Given the description of an element on the screen output the (x, y) to click on. 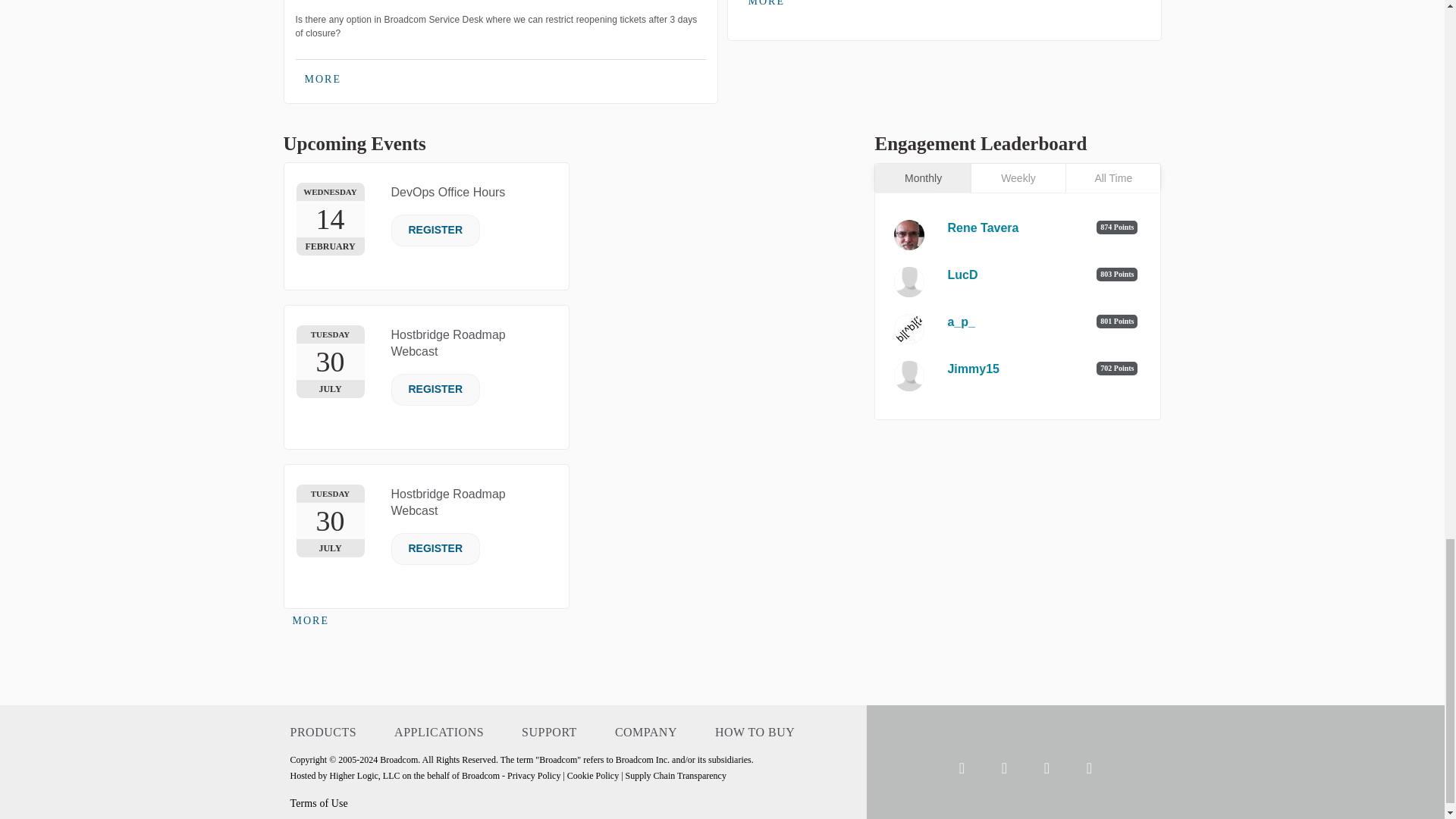
More (310, 621)
More (322, 79)
Hostbridge Roadmap Webcast (448, 342)
DevOps Office  Hours (448, 192)
View All Blog Posts (765, 6)
Hostbridge Roadmap Webcast (448, 501)
